Given the description of an element on the screen output the (x, y) to click on. 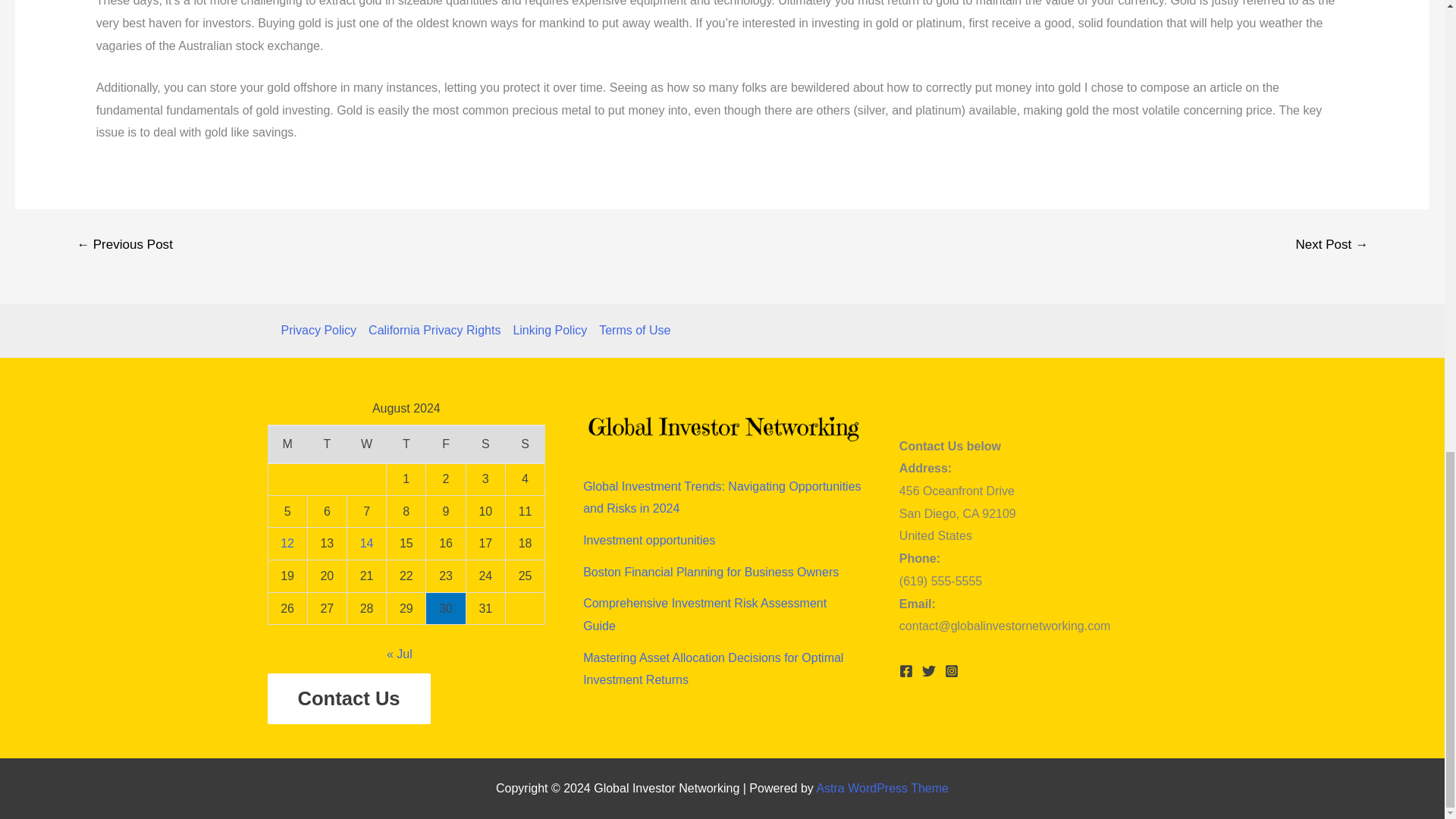
Friday (445, 444)
Wednesday (365, 444)
Monday (287, 444)
Thursday (406, 444)
Sunday (524, 444)
Saturday (485, 444)
Tuesday (326, 444)
